Given the description of an element on the screen output the (x, y) to click on. 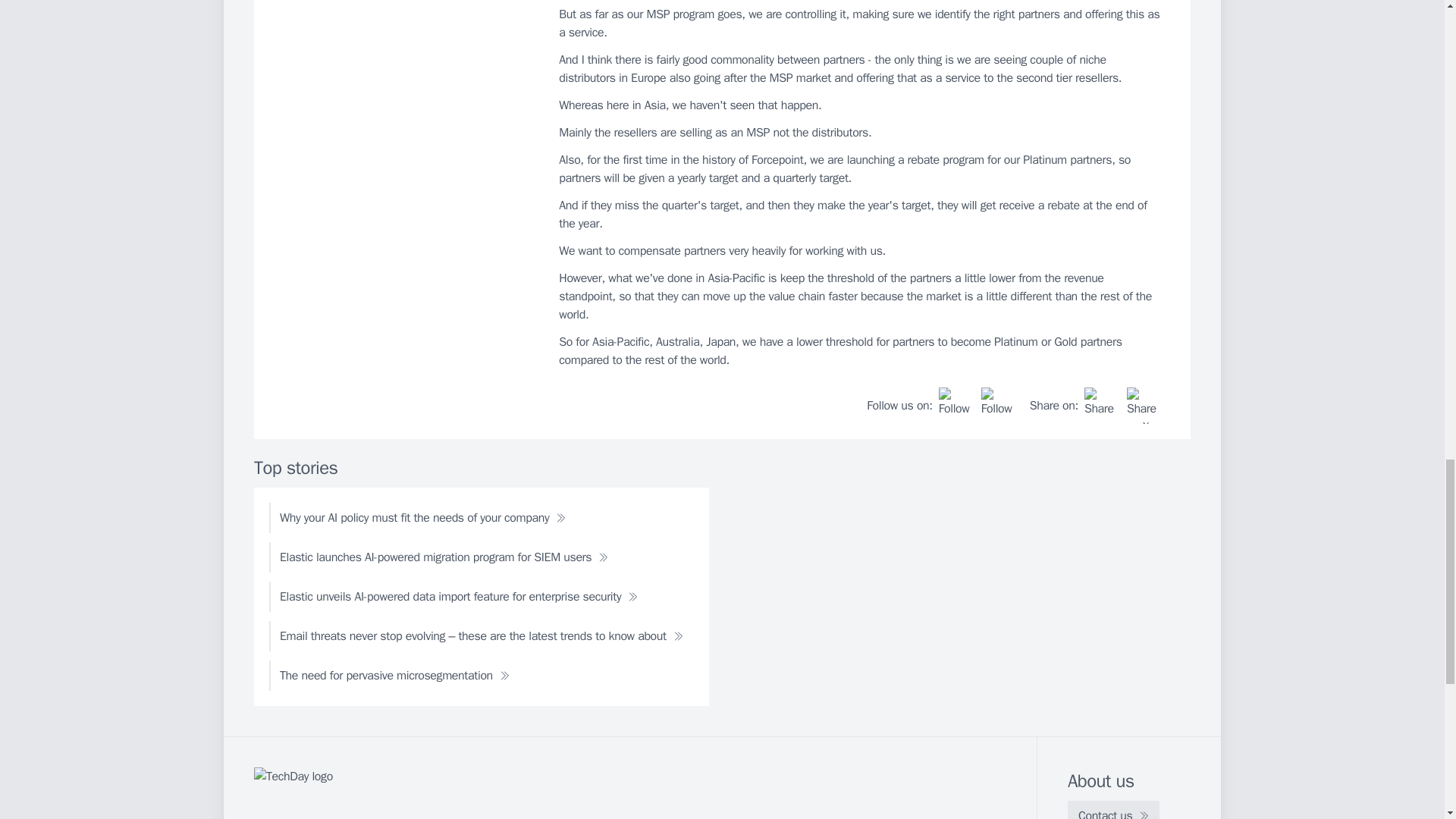
Why your AI policy must fit the needs of your company (422, 517)
The need for pervasive microsegmentation (394, 675)
Elastic launches AI-powered migration program for SIEM users (443, 557)
